Given the description of an element on the screen output the (x, y) to click on. 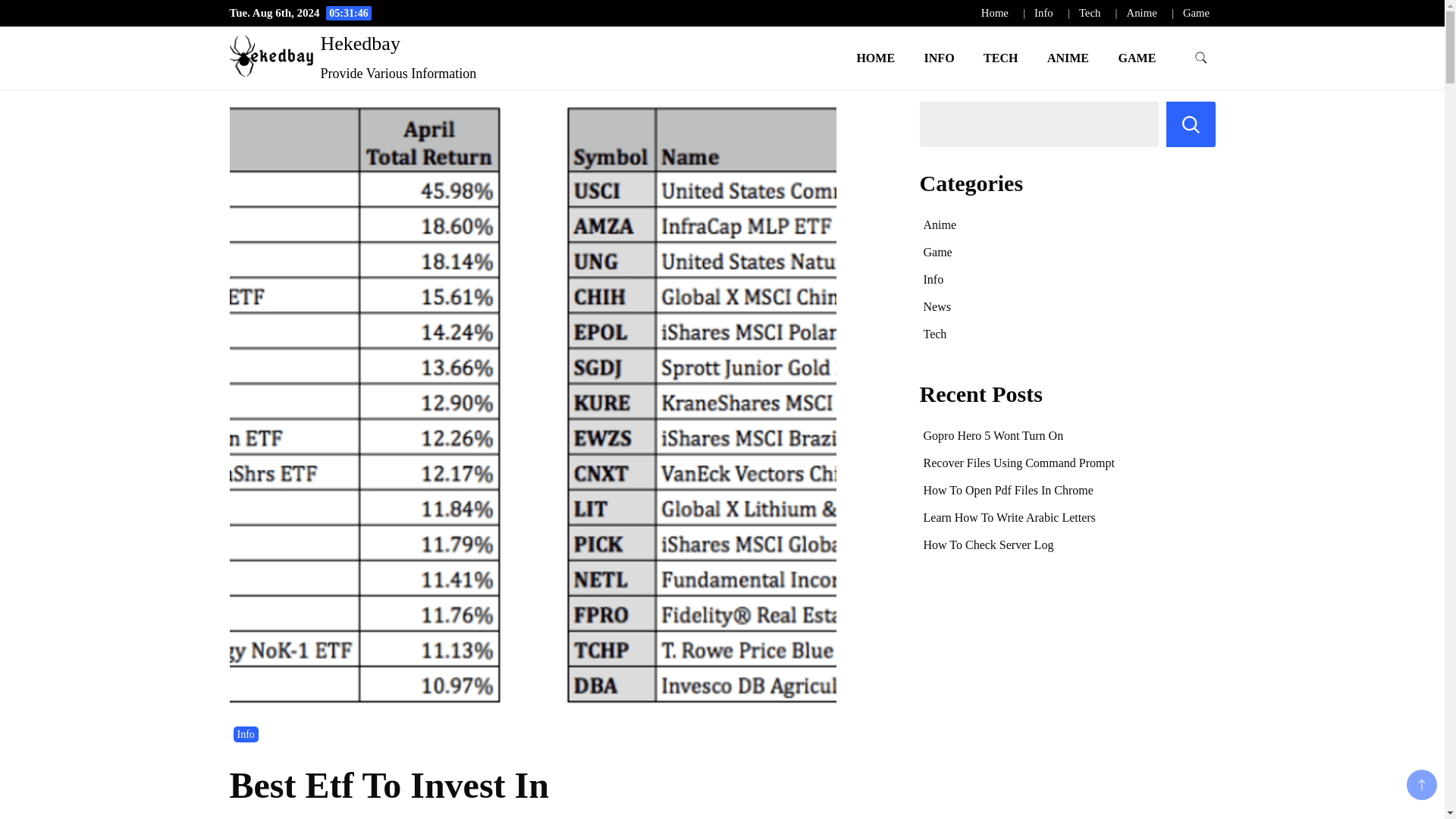
ANIME (1067, 57)
Hekedbay (359, 43)
TECH (1000, 57)
GAME (1137, 57)
Search (1190, 124)
HOME (875, 57)
Anime (1141, 12)
Info (1042, 12)
Game (1195, 12)
INFO (939, 57)
Info (245, 734)
Home (995, 12)
Tech (1089, 12)
Anime (939, 224)
